Given the description of an element on the screen output the (x, y) to click on. 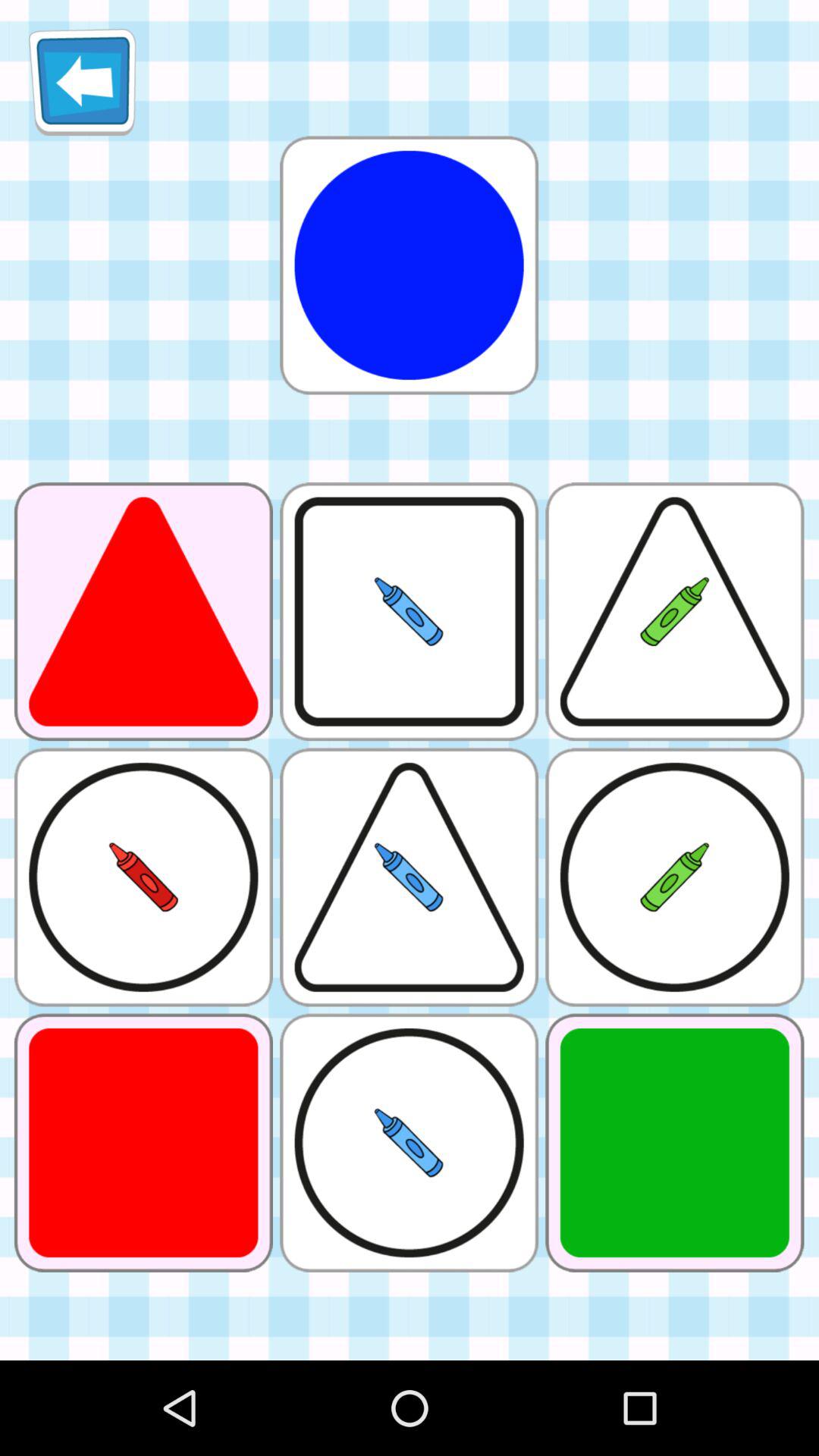
add circle (409, 265)
